Given the description of an element on the screen output the (x, y) to click on. 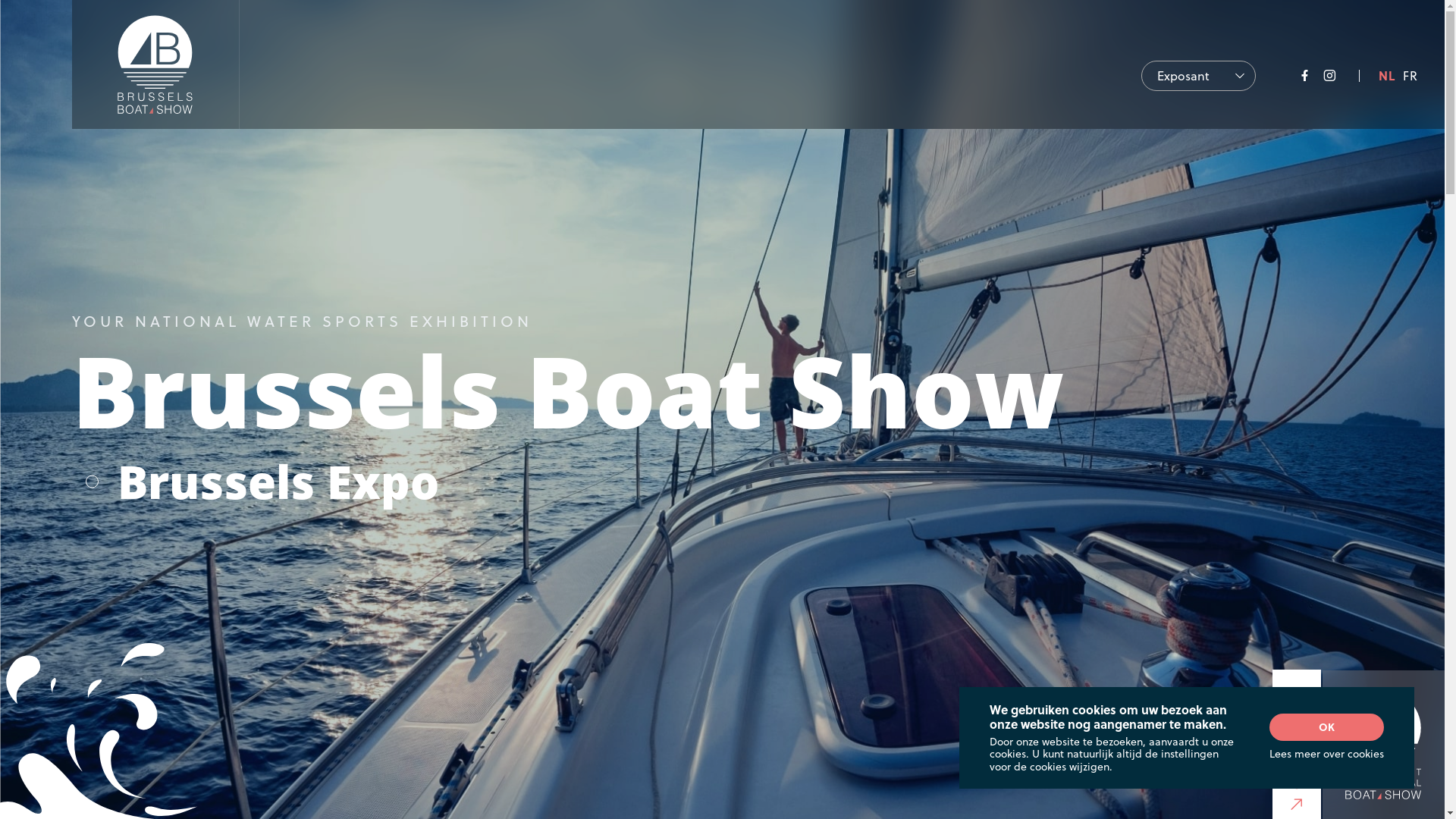
Instagram Element type: text (1329, 75)
Belgian Boat Show Element type: text (155, 64)
Facebook Element type: text (1304, 75)
FR Element type: text (1410, 75)
OK Element type: text (1326, 726)
Lees meer over cookies Element type: text (1326, 753)
